Given the description of an element on the screen output the (x, y) to click on. 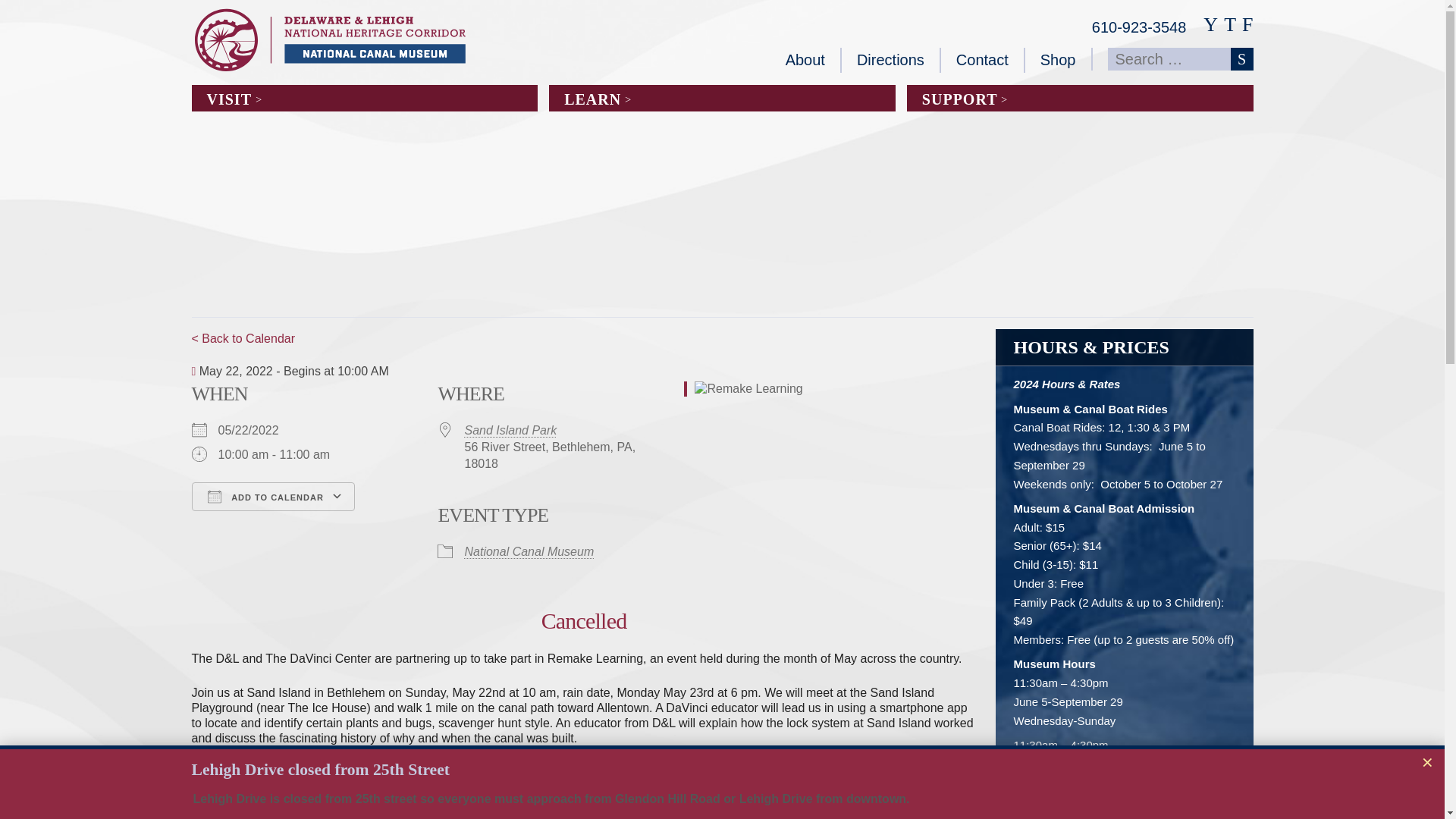
Directions (890, 59)
Download ICS (207, 523)
Y (1210, 25)
About (805, 59)
VISIT (363, 98)
LEARN (721, 98)
F (1246, 25)
ADD TO CALENDAR (271, 496)
S (1241, 58)
SUPPORT (1080, 98)
610-923-3548 (1139, 27)
Contact (982, 59)
S (1241, 58)
S (1241, 58)
T (1230, 25)
